Given the description of an element on the screen output the (x, y) to click on. 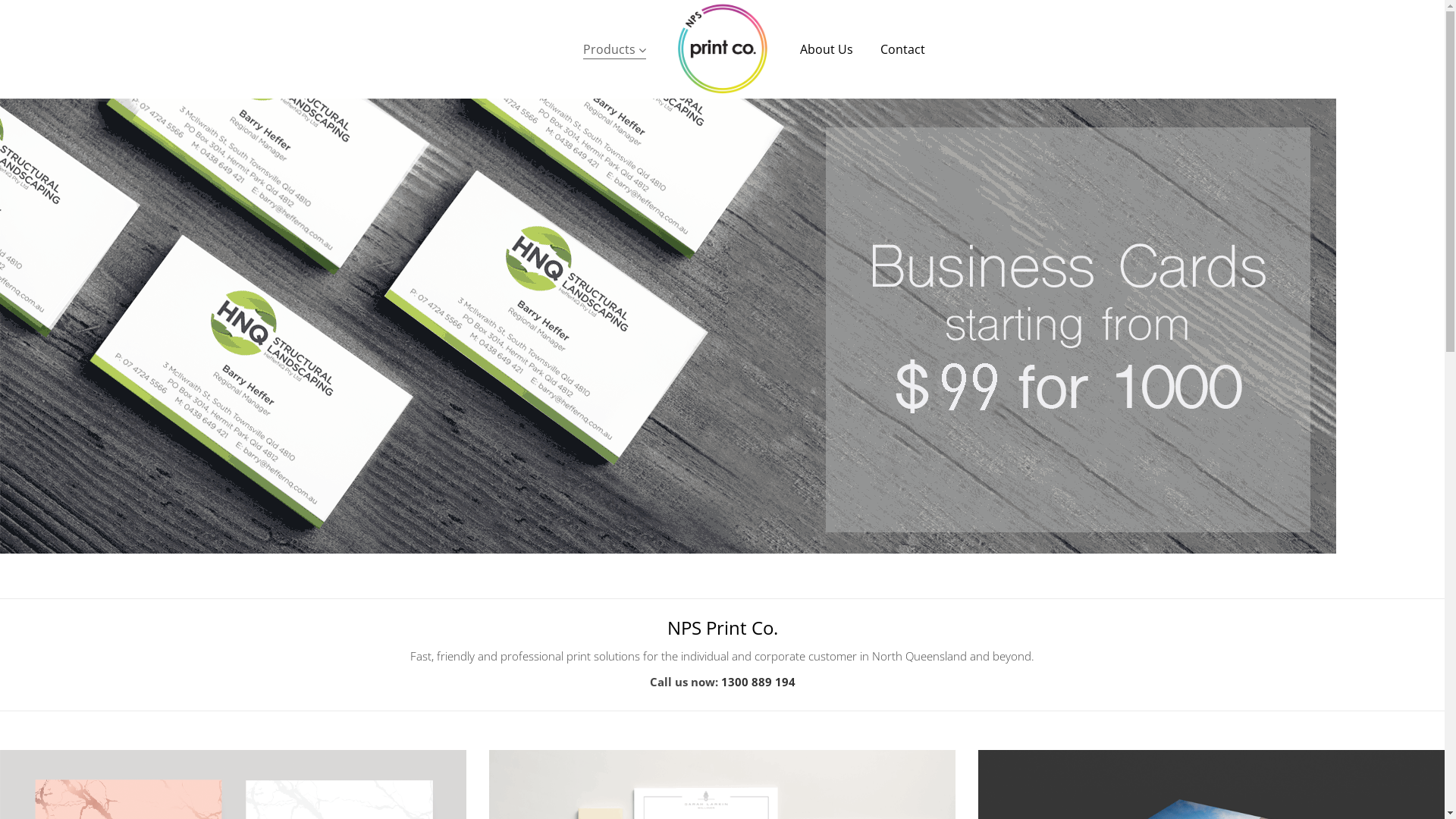
Contact Element type: text (902, 48)
About Us Element type: text (825, 48)
1300 889 194 Element type: text (757, 681)
Products Element type: text (613, 48)
